Given the description of an element on the screen output the (x, y) to click on. 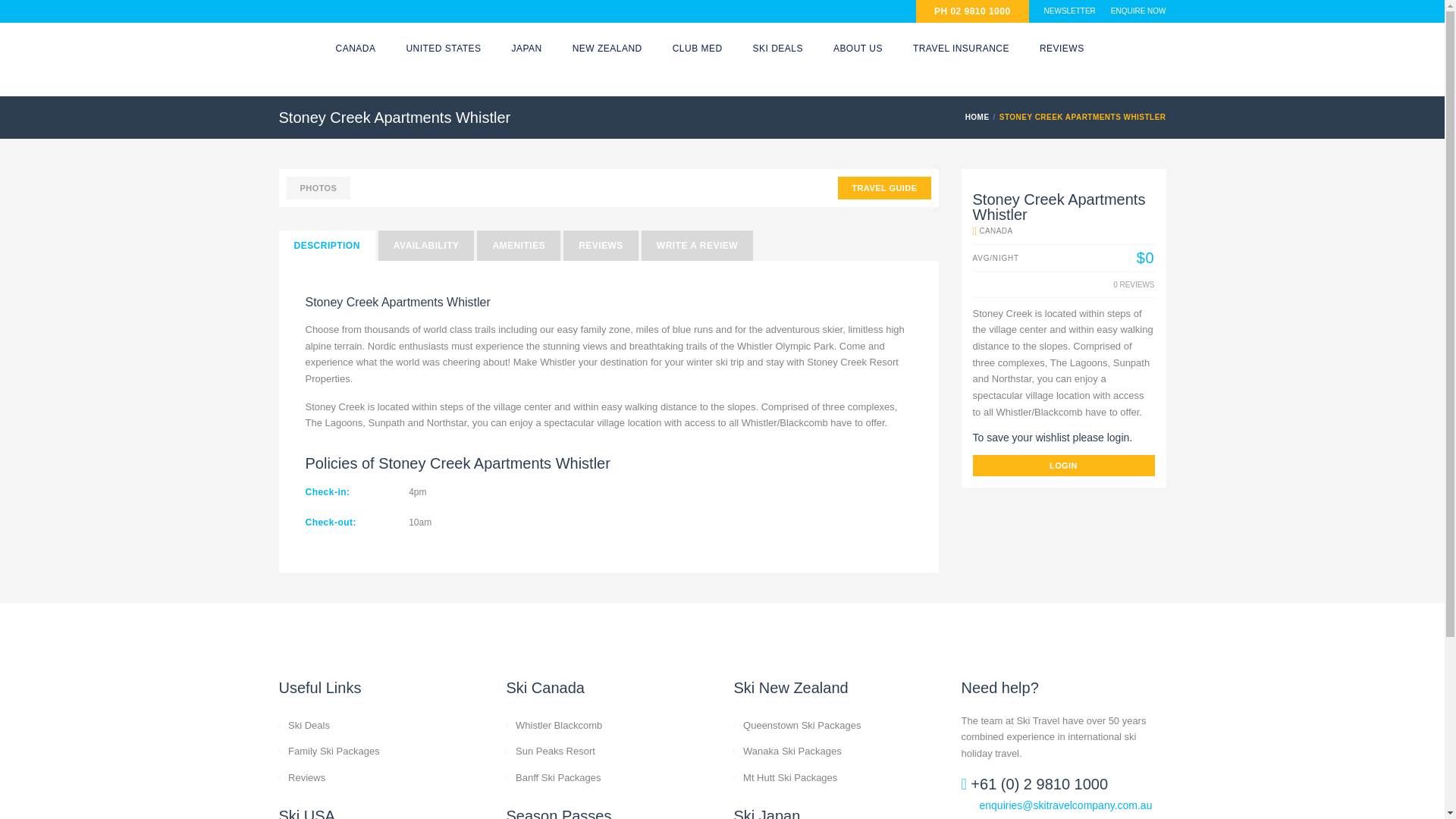
UNITED STATES (443, 48)
Ski USA (443, 48)
NEWSLETTER (1069, 11)
PH 02 9810 1000 (972, 11)
ENQUIRE NOW (1138, 11)
